Given the description of an element on the screen output the (x, y) to click on. 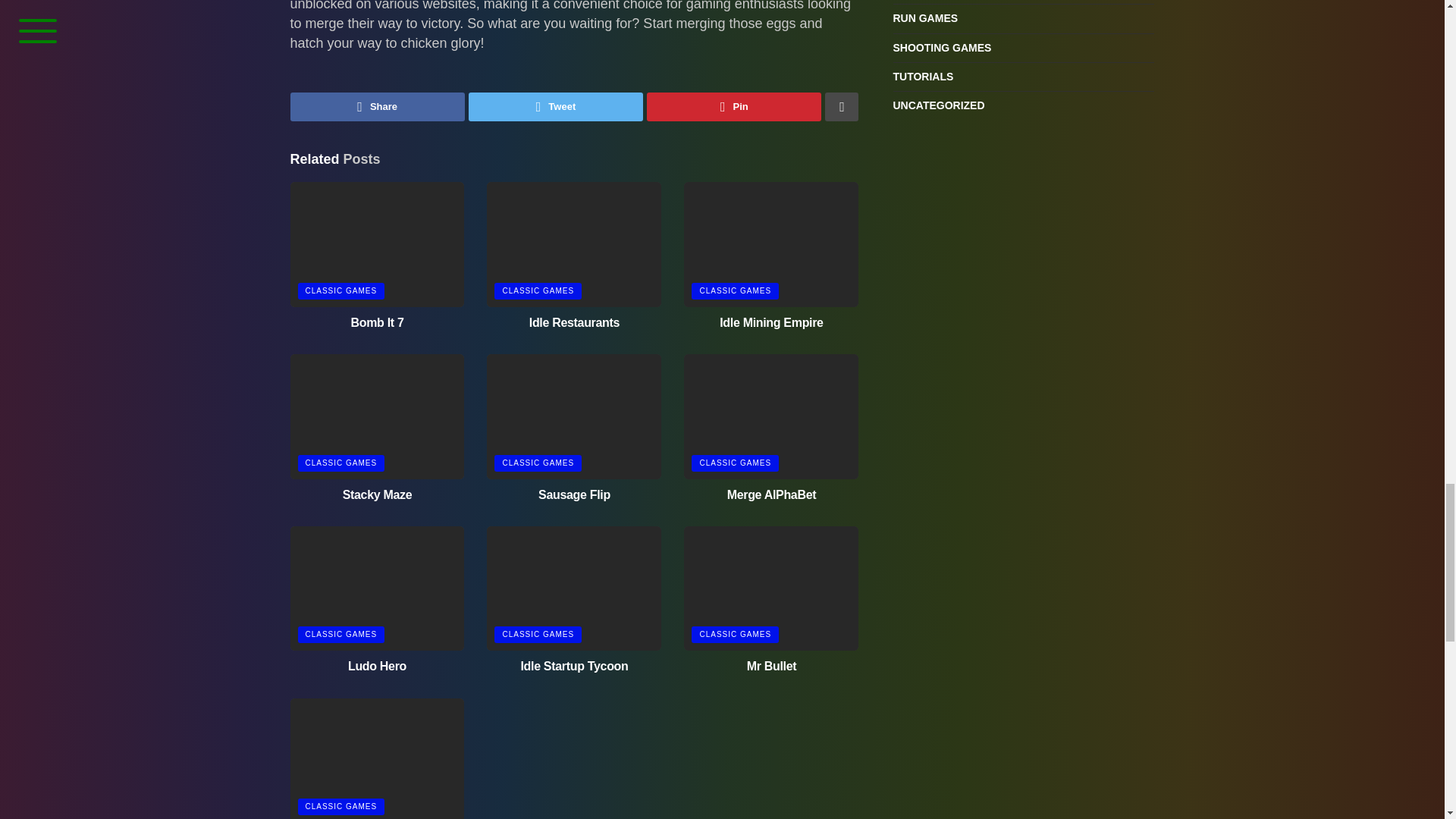
Tweet (555, 106)
Bomb It 7 (376, 322)
CLASSIC GAMES (734, 290)
CLASSIC GAMES (537, 290)
Share (376, 106)
Idle Mining Empire (770, 322)
Pin (733, 106)
Idle Restaurants (574, 322)
CLASSIC GAMES (340, 290)
